Given the description of an element on the screen output the (x, y) to click on. 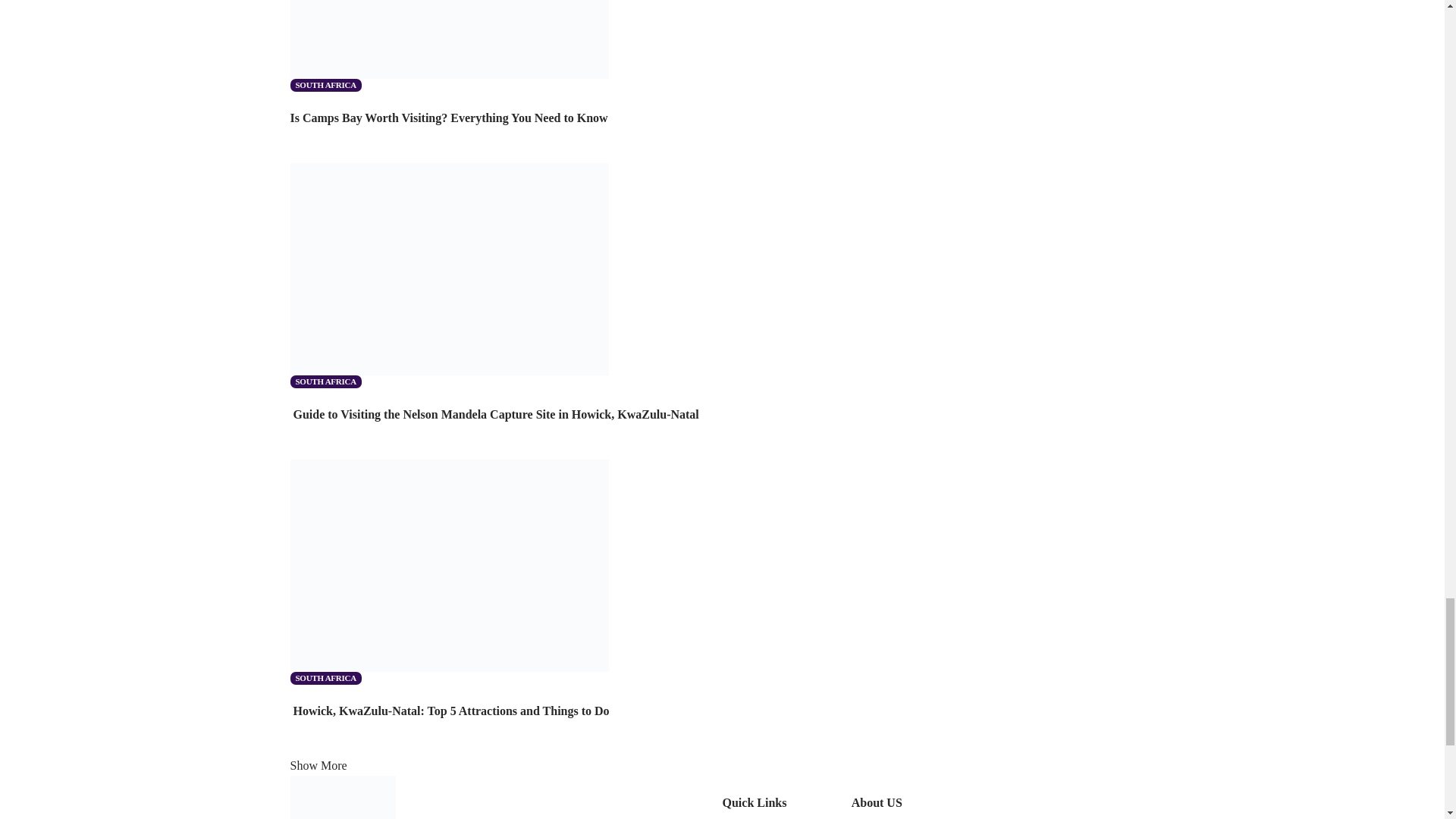
Is Camps Bay Worth Visiting? Everything You Need to Know 5 (448, 39)
